Given the description of an element on the screen output the (x, y) to click on. 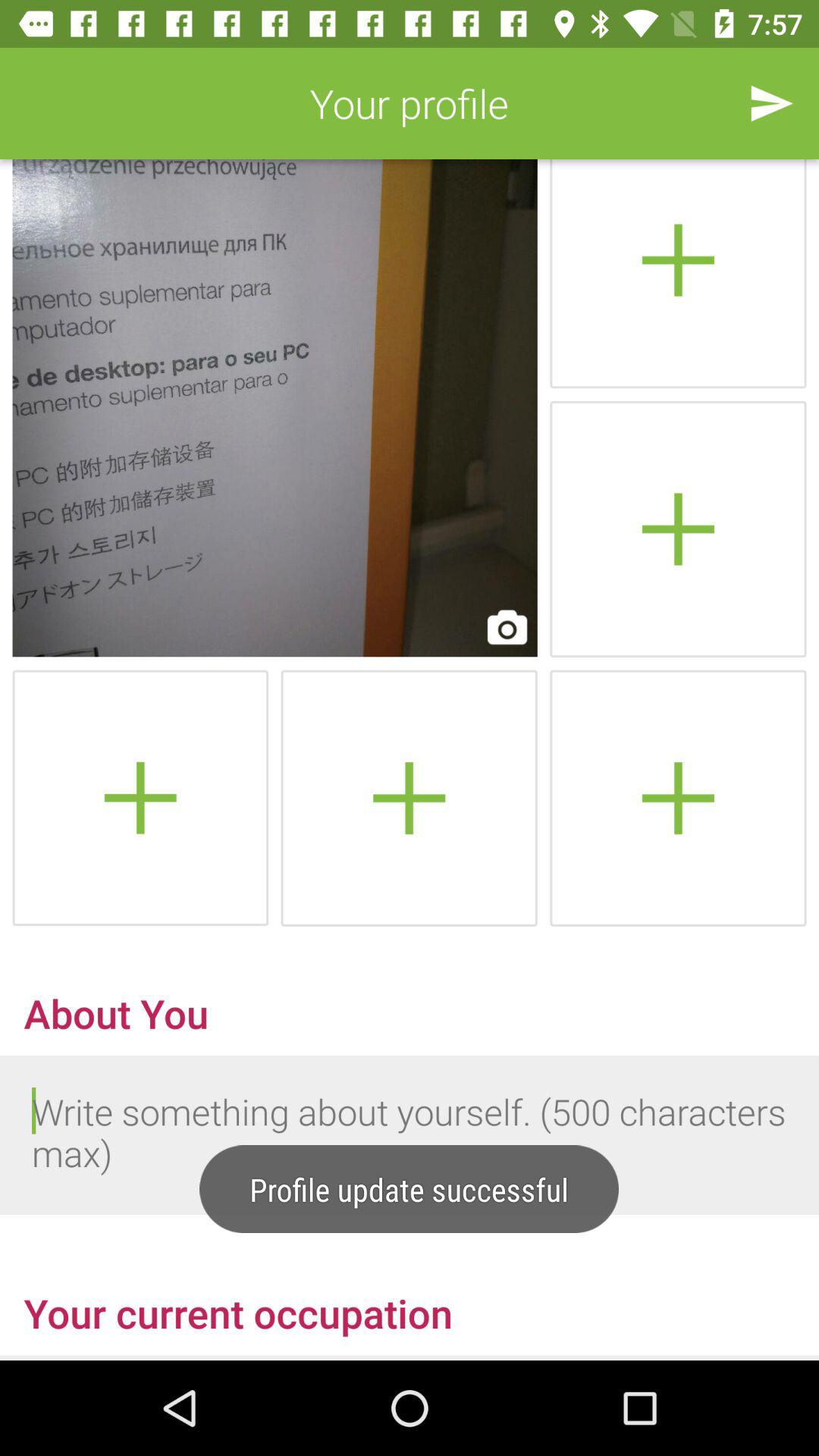
add new (677, 528)
